Given the description of an element on the screen output the (x, y) to click on. 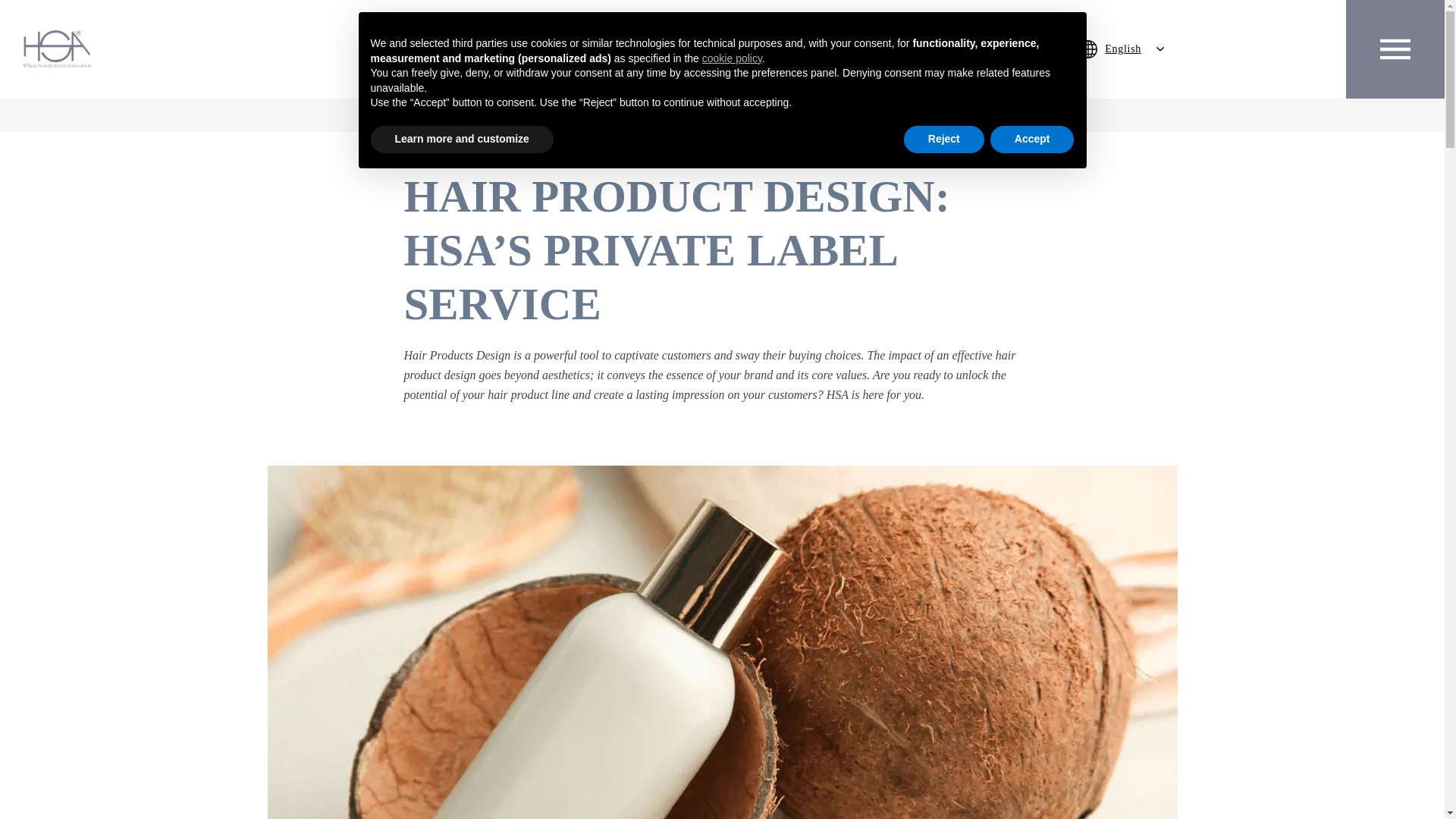
Blog (637, 114)
COMPANY (486, 49)
CONTACTS (855, 49)
HOW WE WORK (726, 49)
Homepage (582, 114)
PRODUCTS (596, 49)
